Given the description of an element on the screen output the (x, y) to click on. 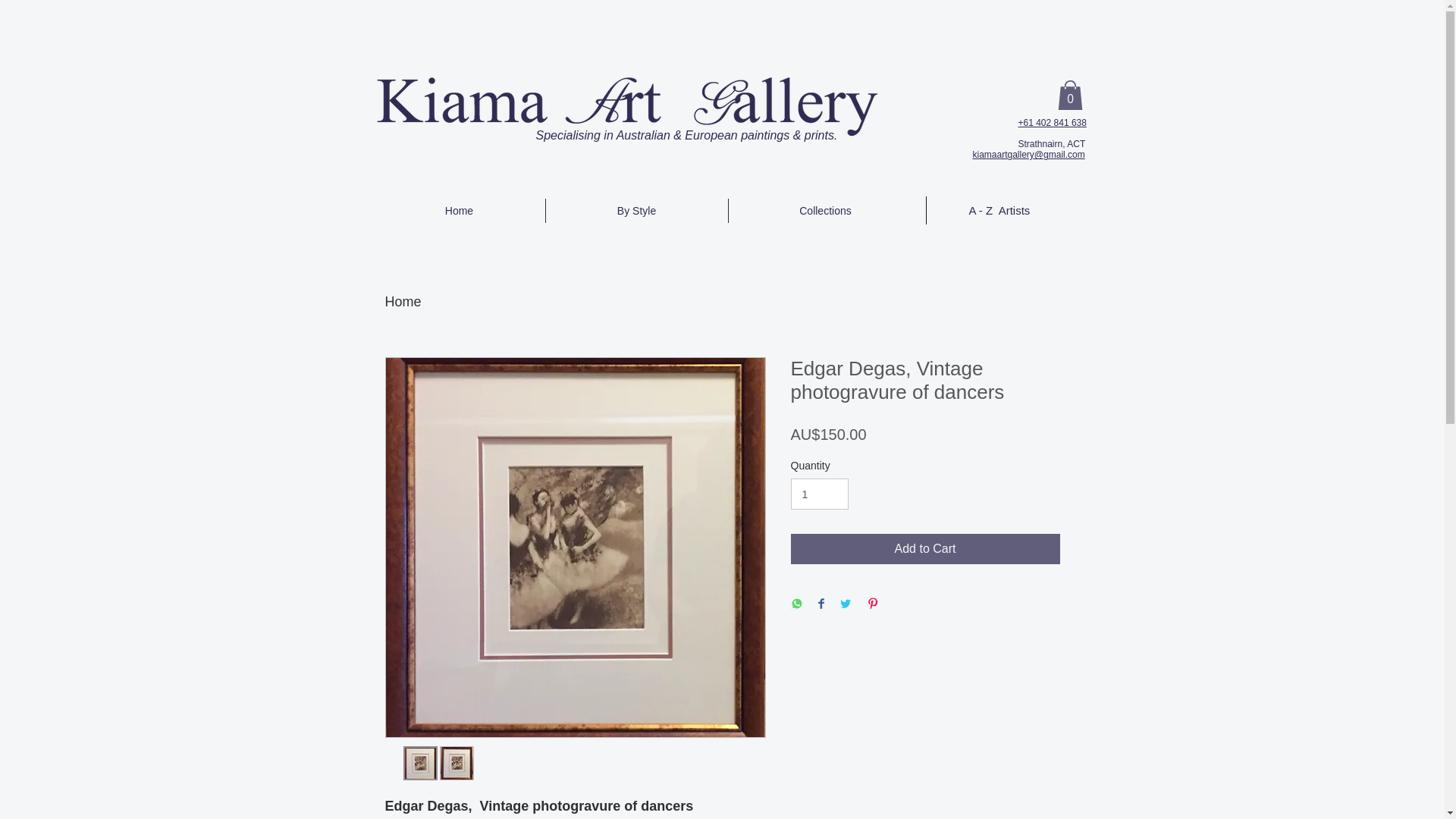
Collections Element type: text (825, 210)
Home Element type: text (403, 301)
Home Element type: text (458, 210)
kiamaartgallery@gmail.com Element type: text (1028, 154)
0 Element type: text (1069, 94)
By Style Element type: text (637, 210)
A - Z  Artists Element type: text (999, 209)
Add to Cart Element type: text (924, 548)
+61 402 841 638 Element type: text (1051, 122)
